Given the description of an element on the screen output the (x, y) to click on. 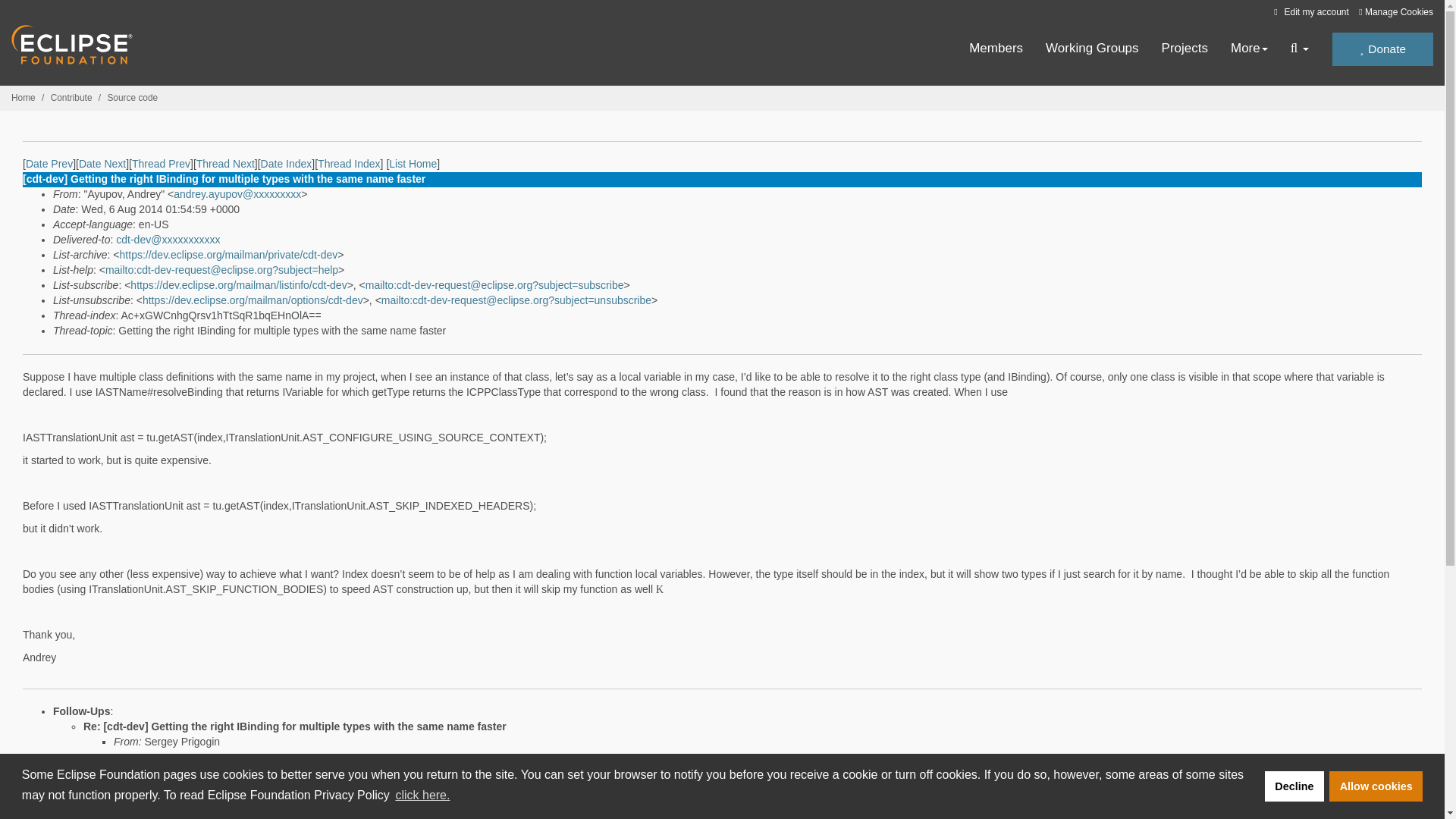
Allow cookies (1375, 786)
Decline (1294, 786)
More (1249, 48)
Donate (1382, 49)
Projects (1184, 48)
Working Groups (1091, 48)
Manage Cookies (1395, 12)
Edit my account (1309, 11)
click here. (422, 794)
Members (996, 48)
